Given the description of an element on the screen output the (x, y) to click on. 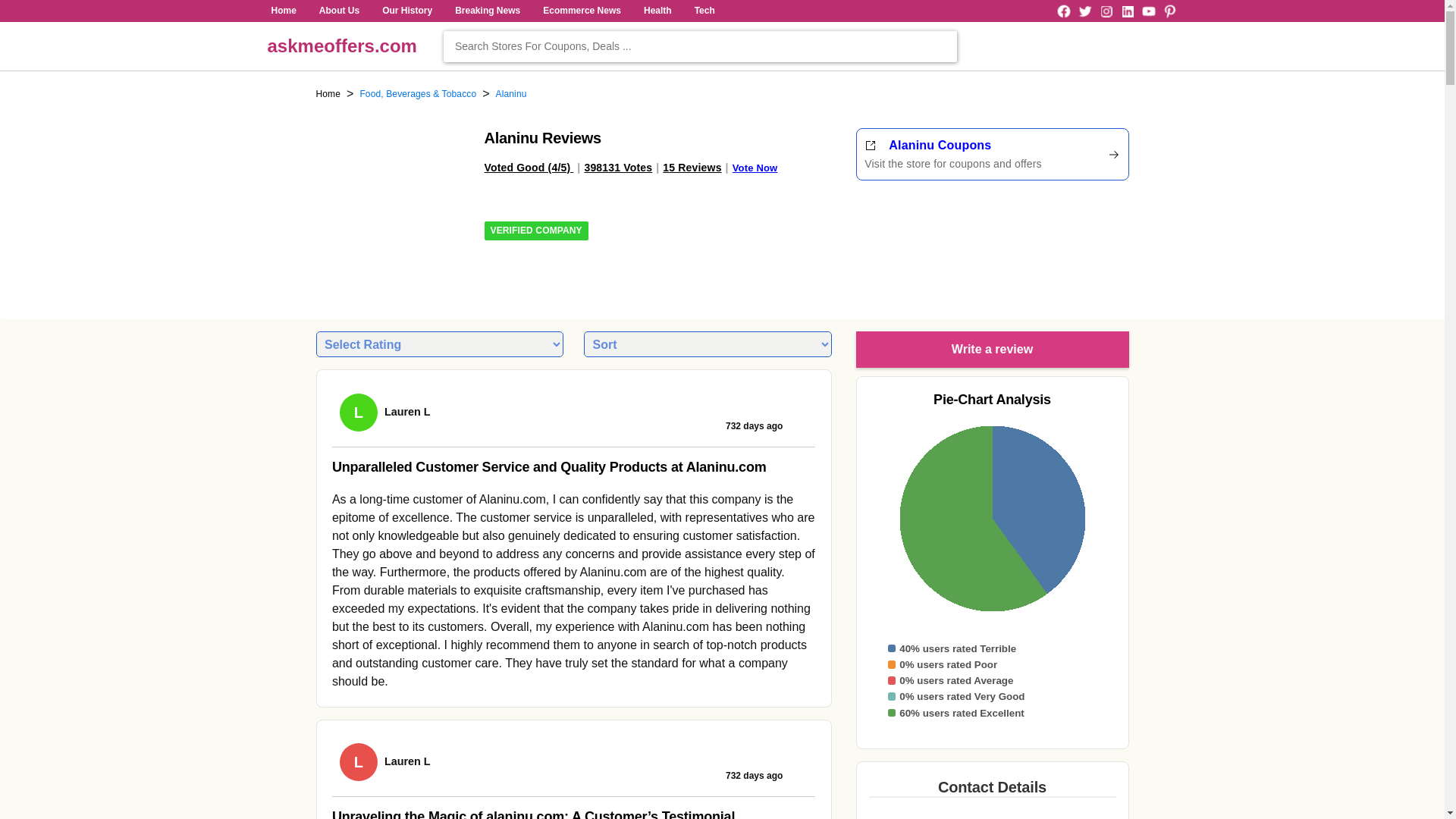
Health (657, 10)
askmeoffers.com (341, 46)
Breaking News (487, 10)
Facebook Page (1062, 11)
YouTube (1148, 11)
Home (282, 10)
Health (657, 10)
Home (327, 93)
VERIFIED COMPANY (535, 230)
Twitter Username (1084, 11)
